Given the description of an element on the screen output the (x, y) to click on. 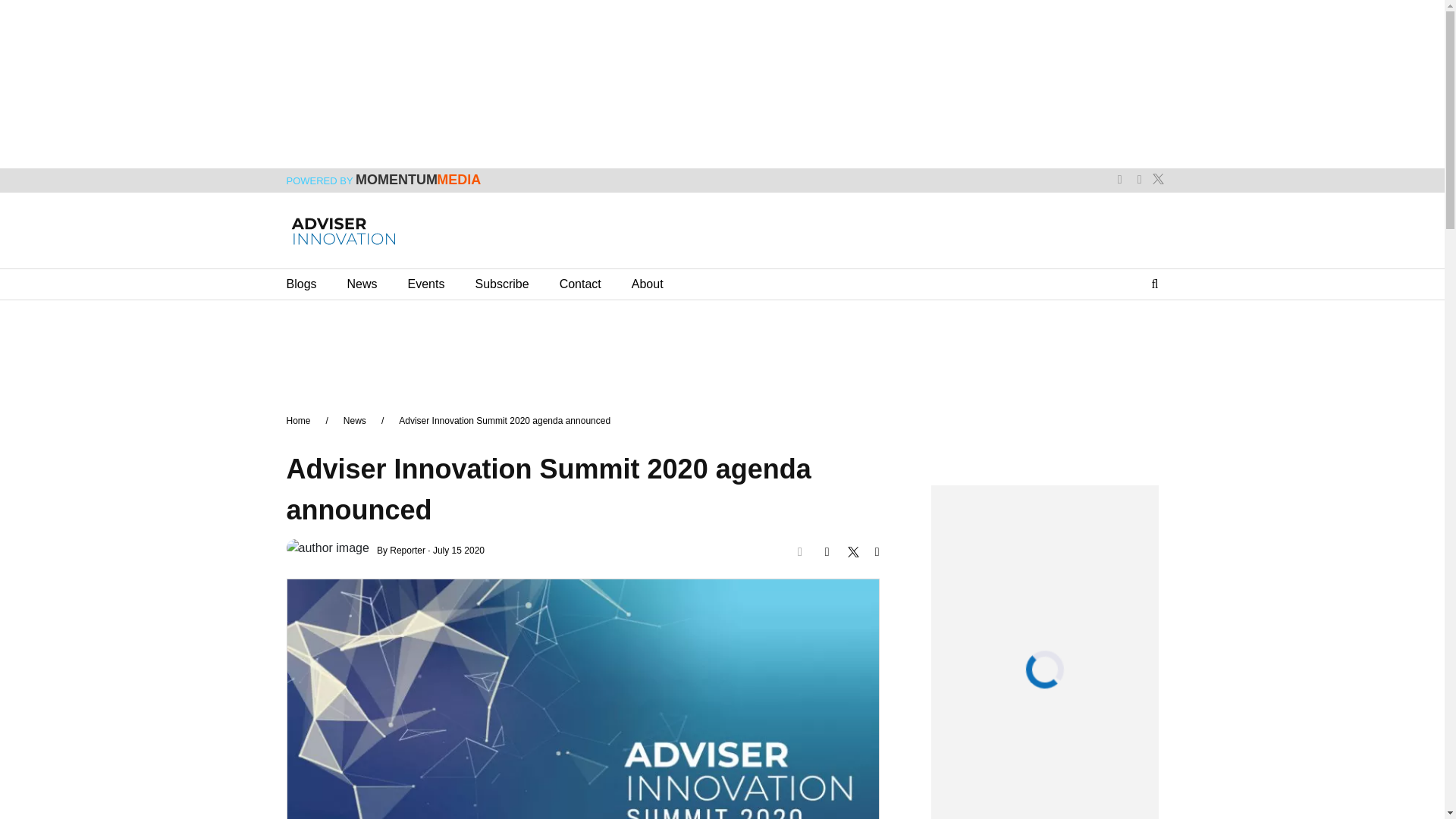
Events (426, 283)
About (647, 283)
Home (298, 420)
Subscribe (501, 283)
Contact (580, 283)
Blogs (301, 283)
POWERED BY MOMENTUM MEDIA (383, 181)
News (362, 283)
News (354, 420)
